Given the description of an element on the screen output the (x, y) to click on. 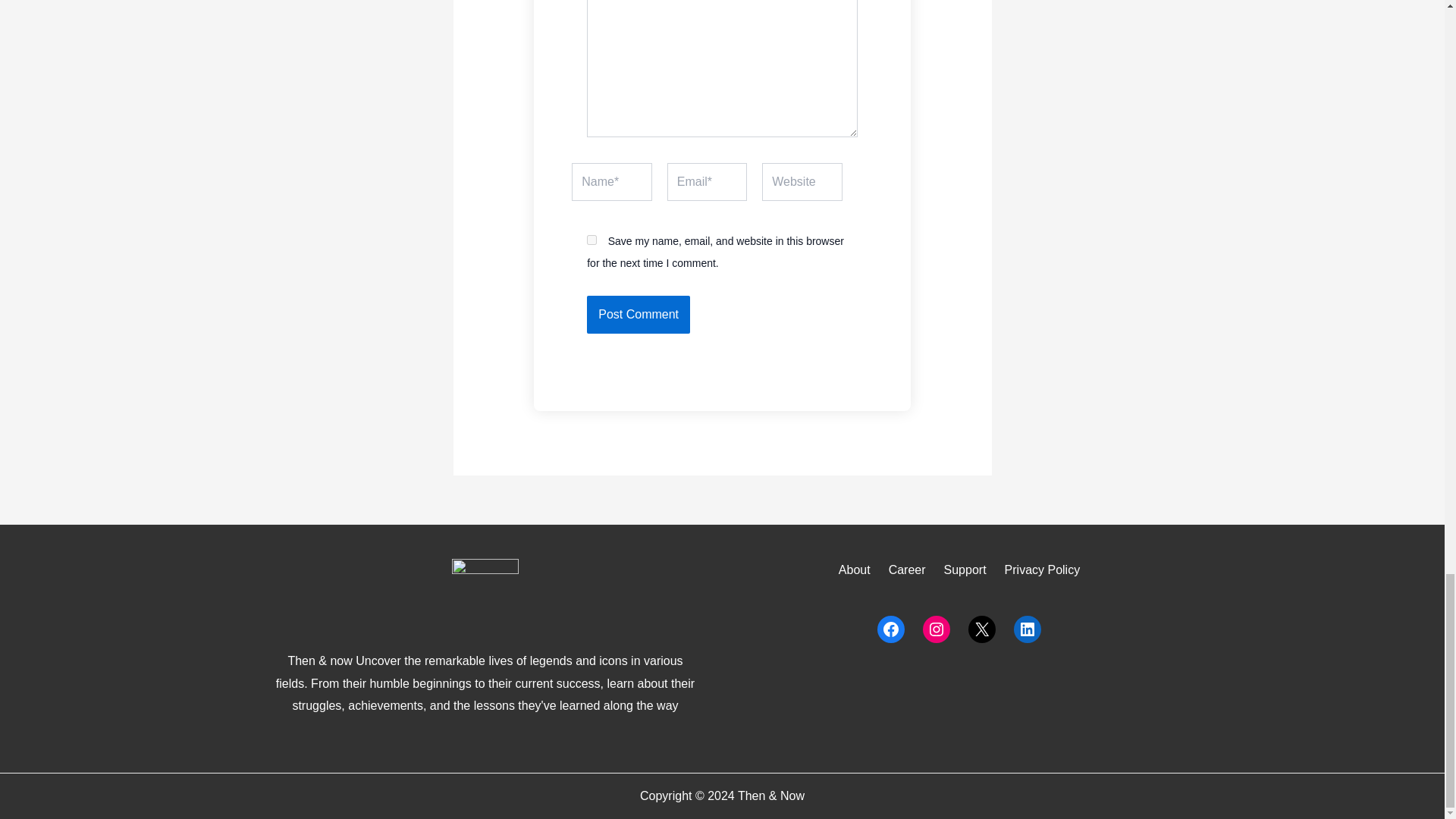
yes (591, 239)
Post Comment (638, 314)
